Given the description of an element on the screen output the (x, y) to click on. 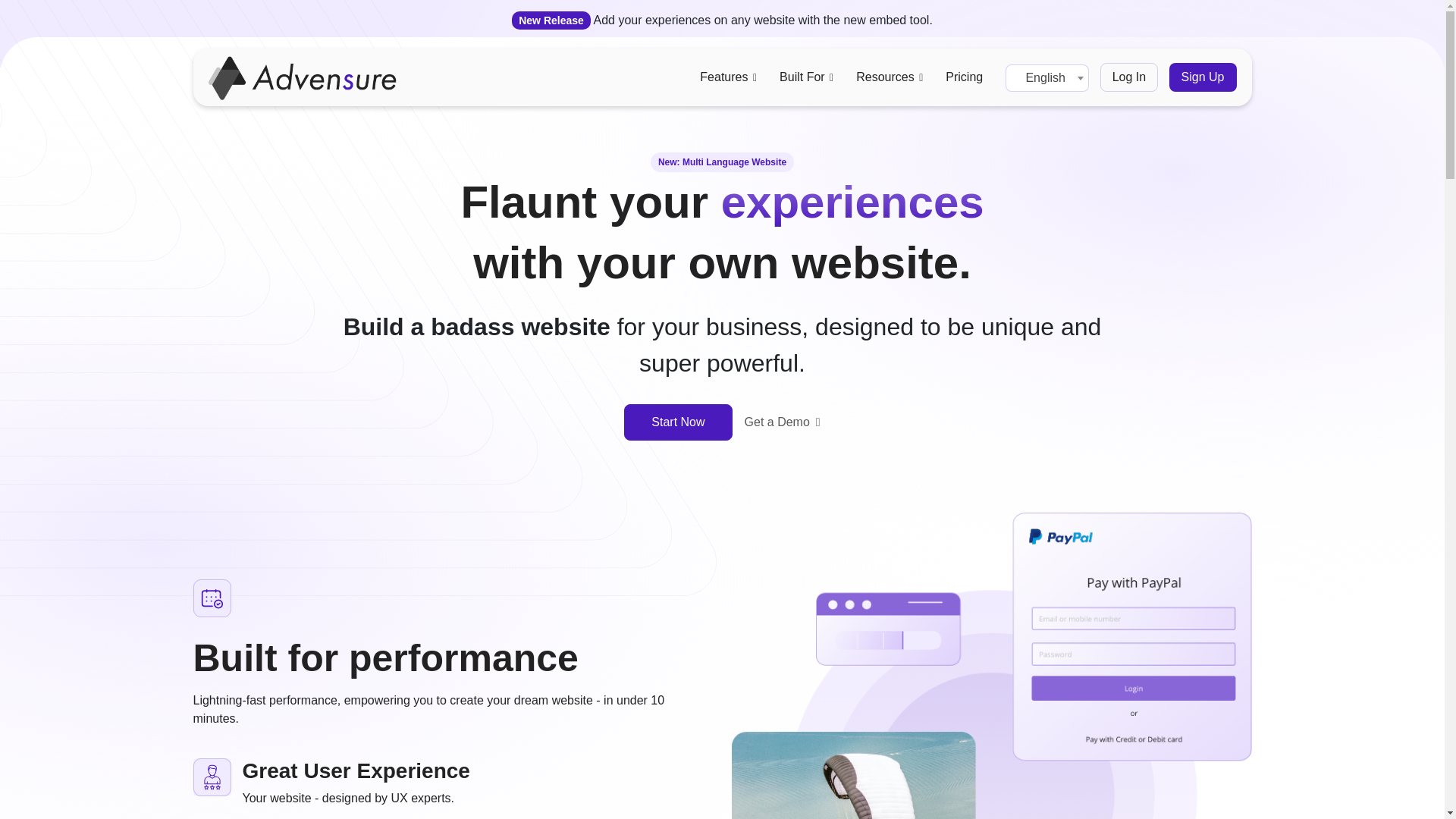
Sign Up (1202, 77)
Resources (885, 76)
Log In (1128, 77)
Features (724, 76)
English (1046, 78)
Built For (801, 76)
Pricing (963, 76)
